Given the description of an element on the screen output the (x, y) to click on. 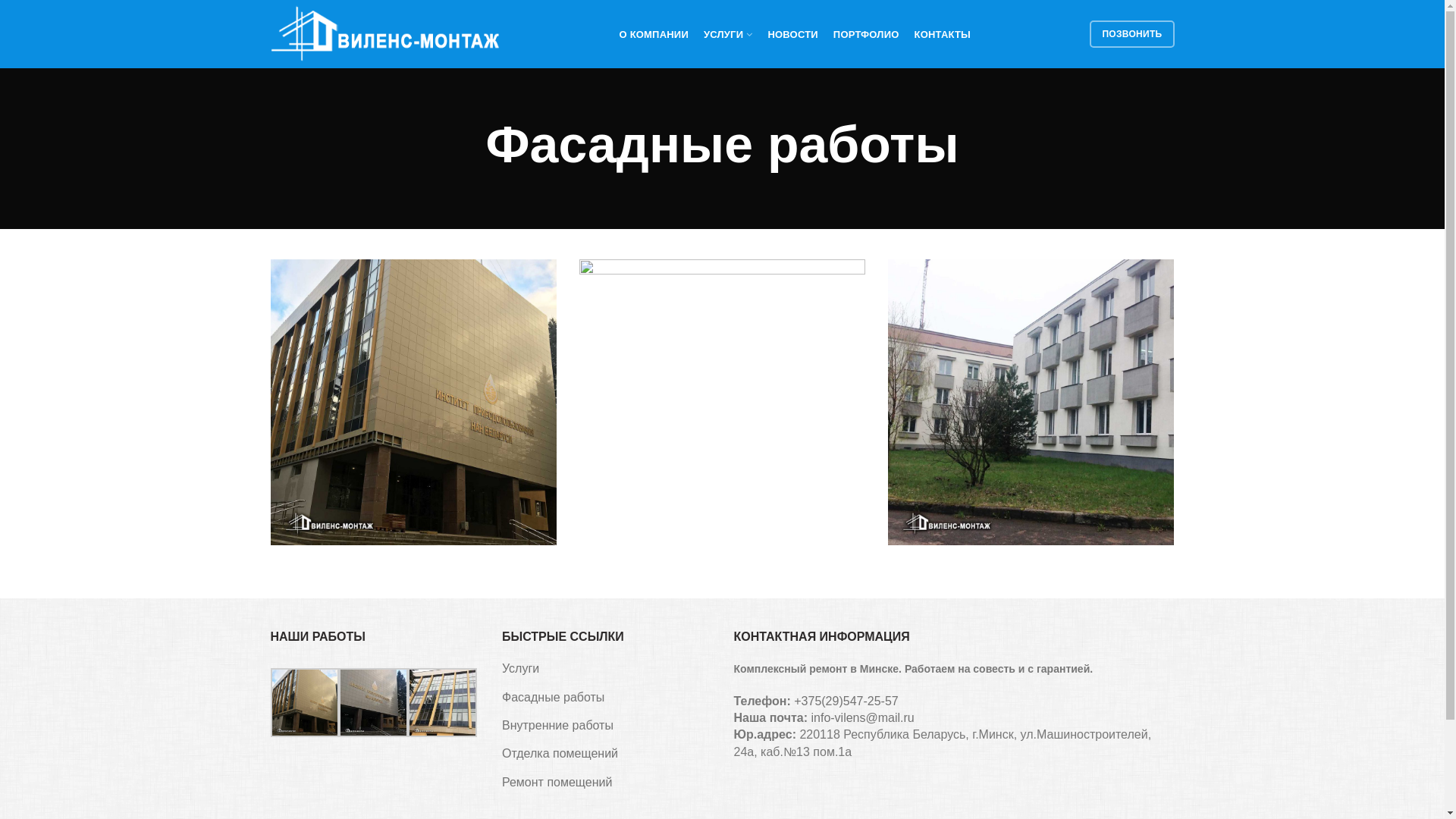
+375(29)547-25-57 Element type: text (845, 700)
info-vilens@mail.ru Element type: text (861, 717)
